Given the description of an element on the screen output the (x, y) to click on. 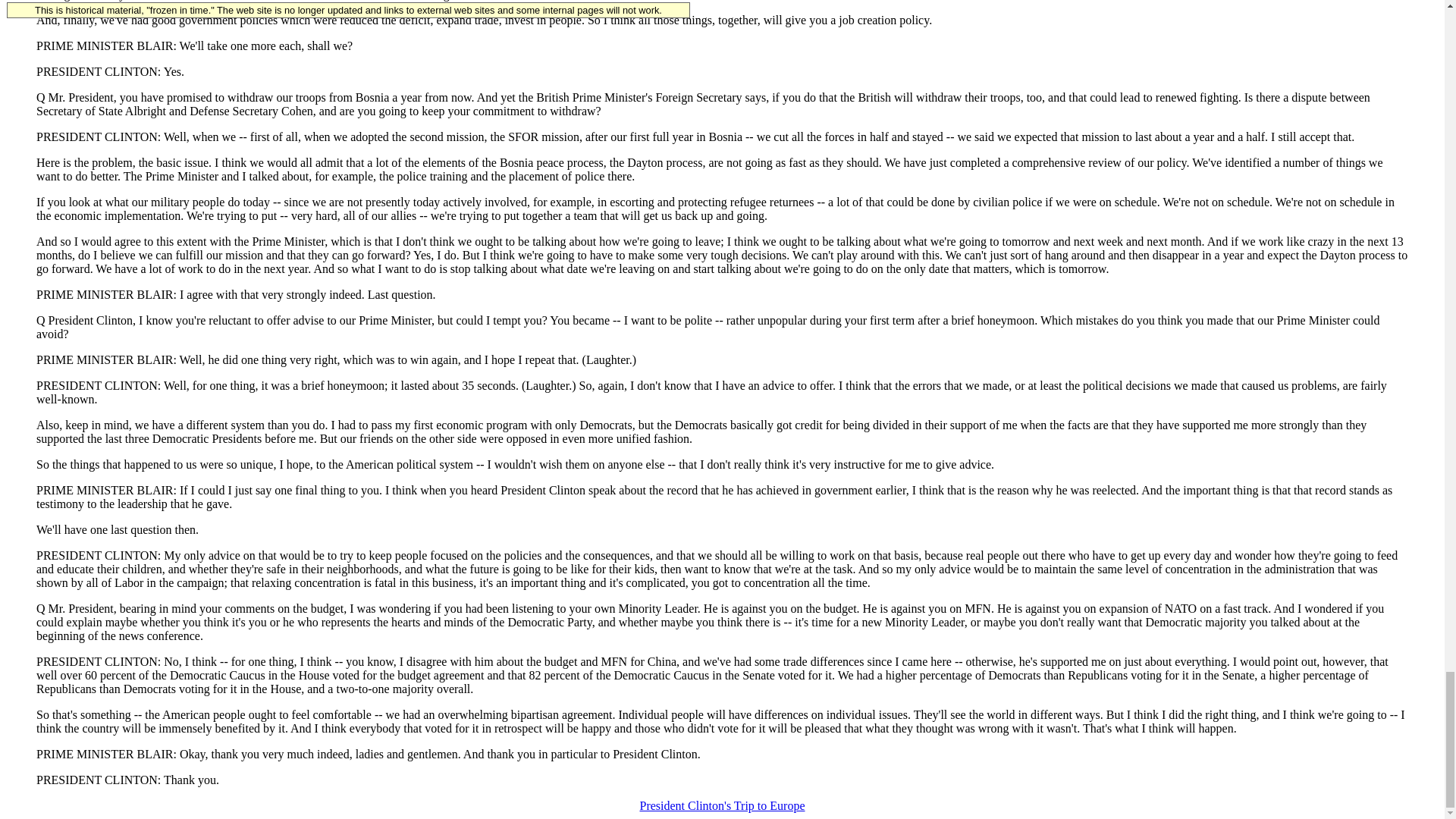
President Clinton's Trip to Europe (722, 805)
